Given the description of an element on the screen output the (x, y) to click on. 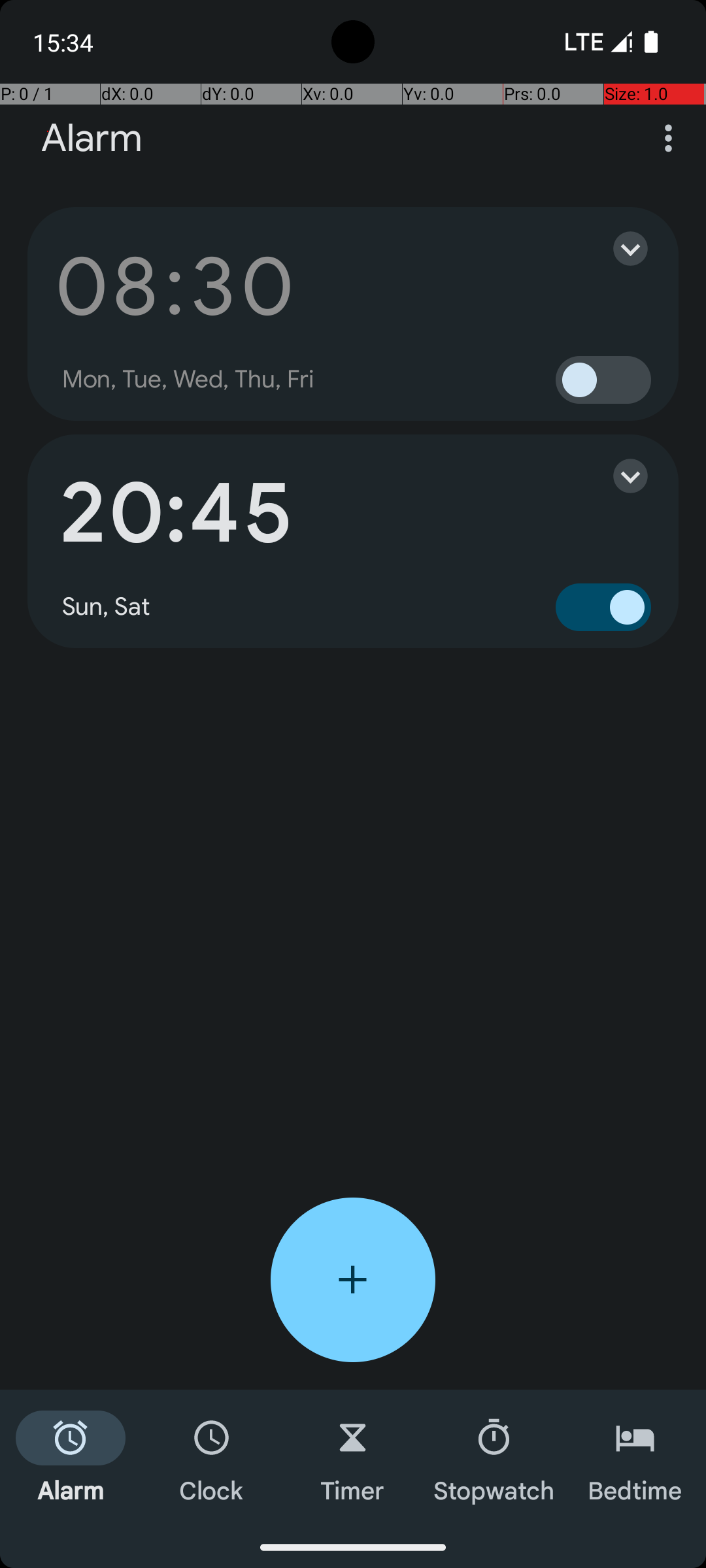
Add alarm Element type: android.widget.Button (352, 1279)
08:30 Element type: android.widget.TextView (174, 286)
Expand alarm Element type: android.widget.ImageButton (616, 248)
Mon, Tue, Wed, Thu, Fri Element type: android.widget.TextView (187, 379)
20:45 Element type: android.widget.TextView (174, 513)
Sun, Sat Element type: android.widget.TextView (106, 606)
